Given the description of an element on the screen output the (x, y) to click on. 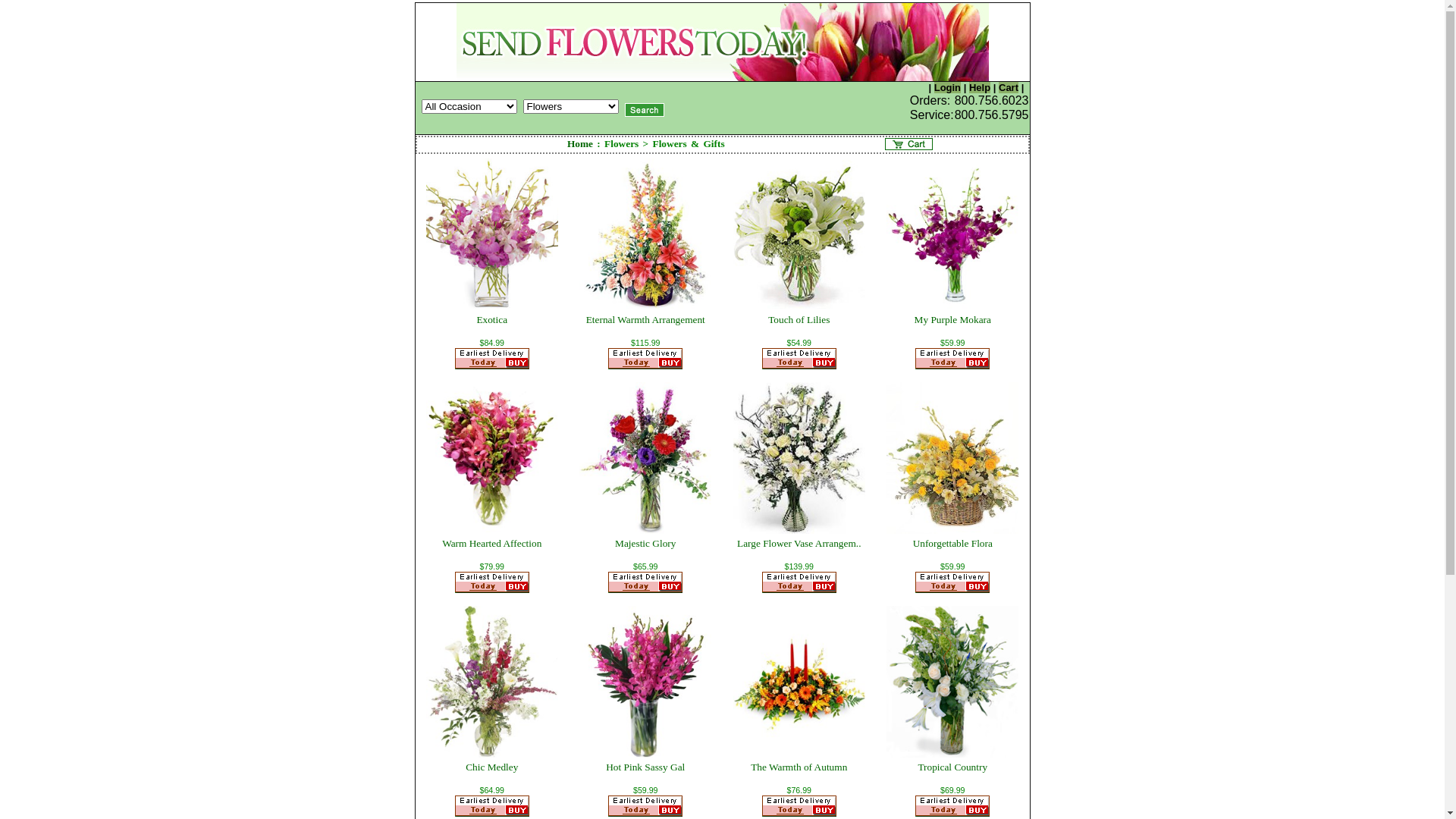
Login Element type: text (947, 87)
Unforgettable Flora Element type: text (952, 543)
My Purple Mokara Element type: text (952, 319)
Exotica Element type: text (491, 319)
Majestic Glory Element type: text (645, 543)
Help Element type: text (979, 87)
Touch of Lilies Element type: text (798, 319)
Large Flower Vase Arrangem.. Element type: text (798, 543)
Hot Pink Sassy Gal Element type: text (644, 766)
Chic Medley Element type: text (491, 766)
The Warmth of Autumn Element type: text (798, 766)
Warm Hearted Affection Element type: text (491, 543)
Eternal Warmth Arrangement Element type: text (645, 319)
Home Element type: text (580, 143)
Cart Element type: text (1008, 87)
Tropical Country Element type: text (952, 766)
